Given the description of an element on the screen output the (x, y) to click on. 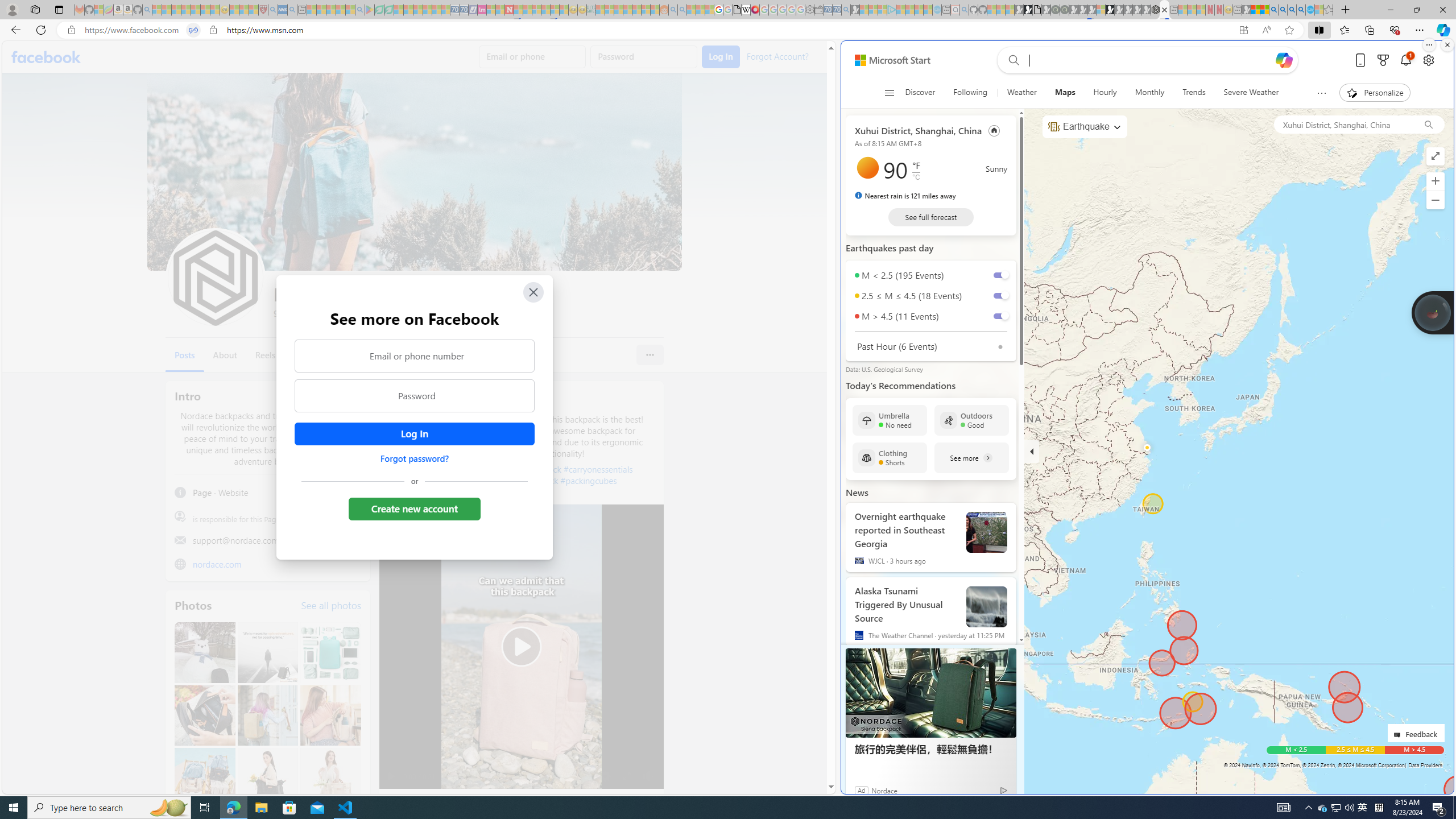
Add this page to favorites (Ctrl+D) (1289, 29)
Open Copilot (1283, 59)
Password (414, 395)
Settings and more (Alt+F) (1419, 29)
Address and search bar (658, 29)
Personal Profile (12, 9)
Close tab (1163, 9)
Xuhui District, Shanghai, China (918, 130)
Zoom in (1435, 180)
Personalize (1374, 92)
Expert Portfolios - Sleeping (627, 9)
